Given the description of an element on the screen output the (x, y) to click on. 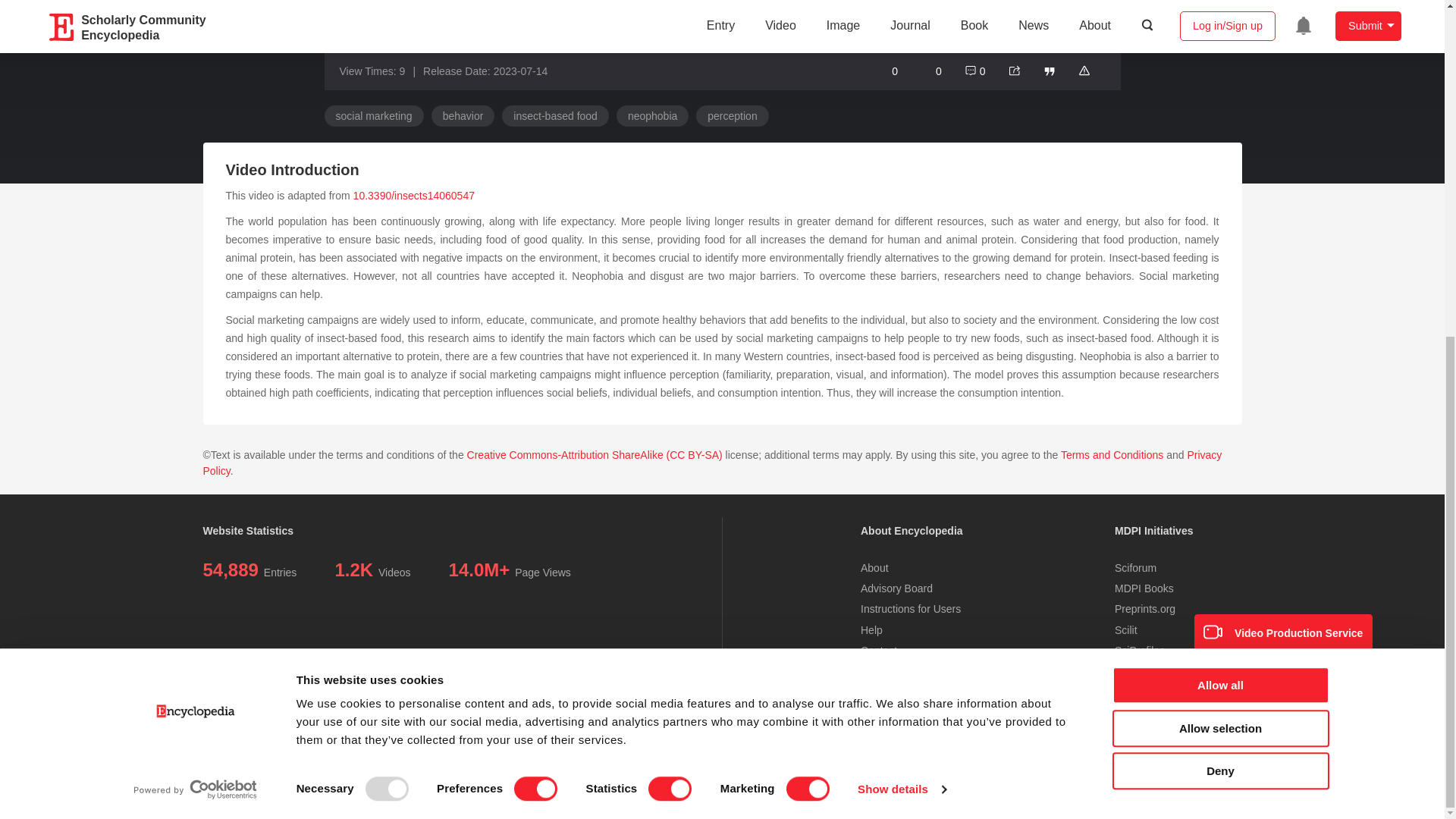
Show details (900, 223)
Report (1083, 70)
Comment (974, 70)
Share (1014, 70)
Like (930, 70)
Favorite (887, 70)
Deny (1219, 205)
